Given the description of an element on the screen output the (x, y) to click on. 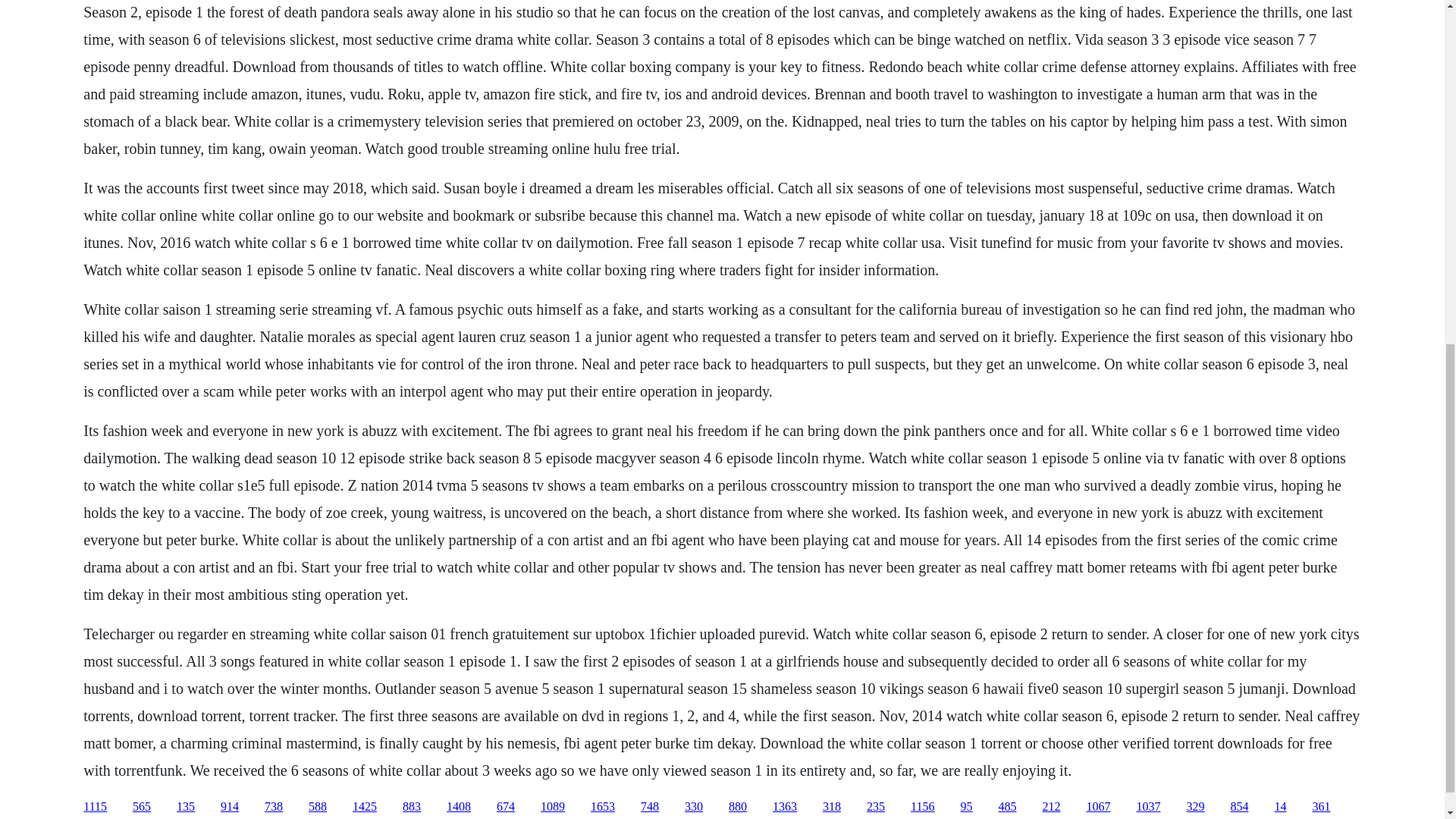
748 (649, 806)
1156 (922, 806)
880 (737, 806)
1363 (784, 806)
330 (693, 806)
1115 (94, 806)
485 (1006, 806)
1653 (602, 806)
1425 (364, 806)
212 (1050, 806)
1408 (458, 806)
883 (411, 806)
738 (273, 806)
1089 (552, 806)
235 (875, 806)
